Given the description of an element on the screen output the (x, y) to click on. 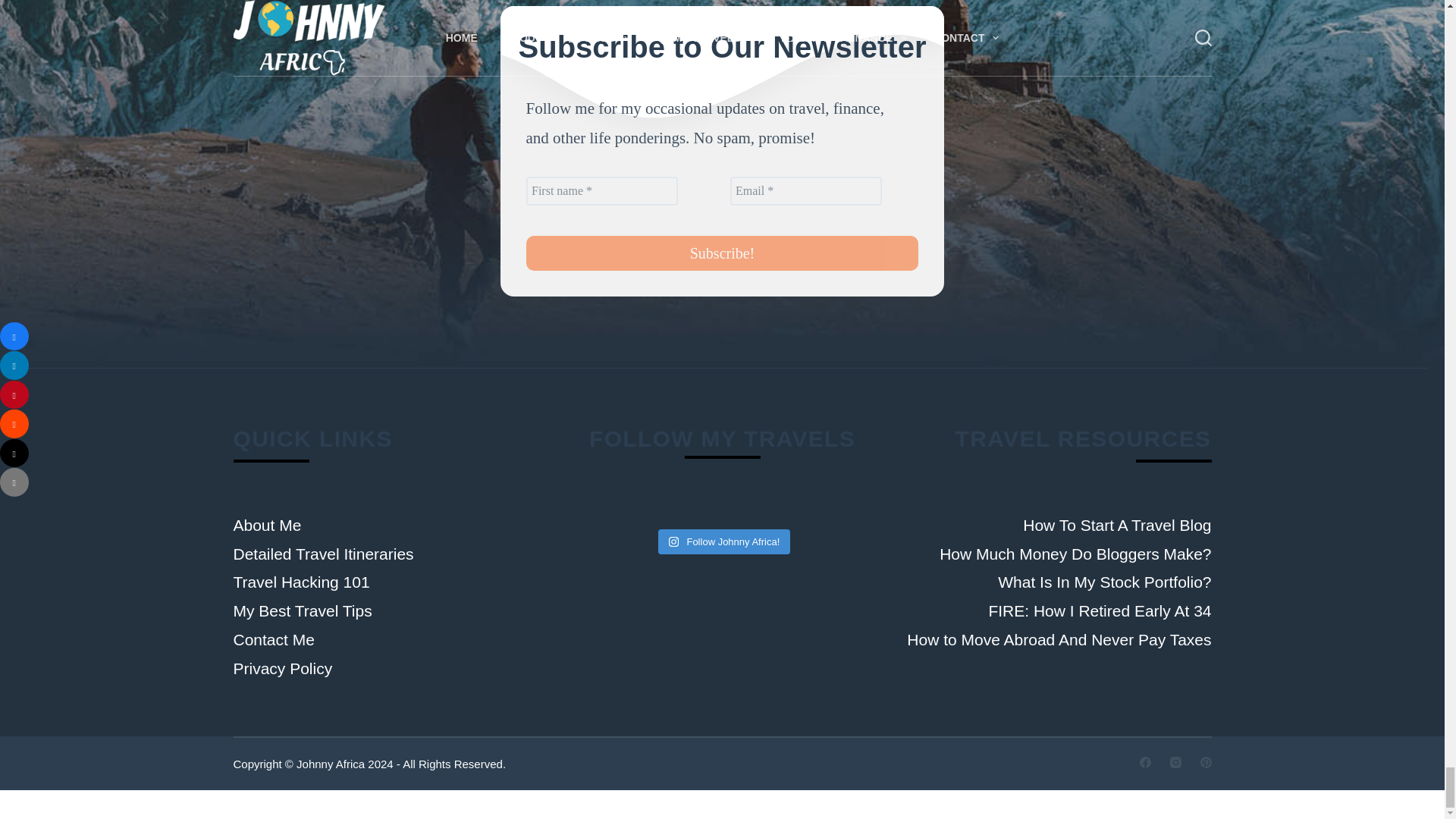
Subscribe! (721, 253)
